Given the description of an element on the screen output the (x, y) to click on. 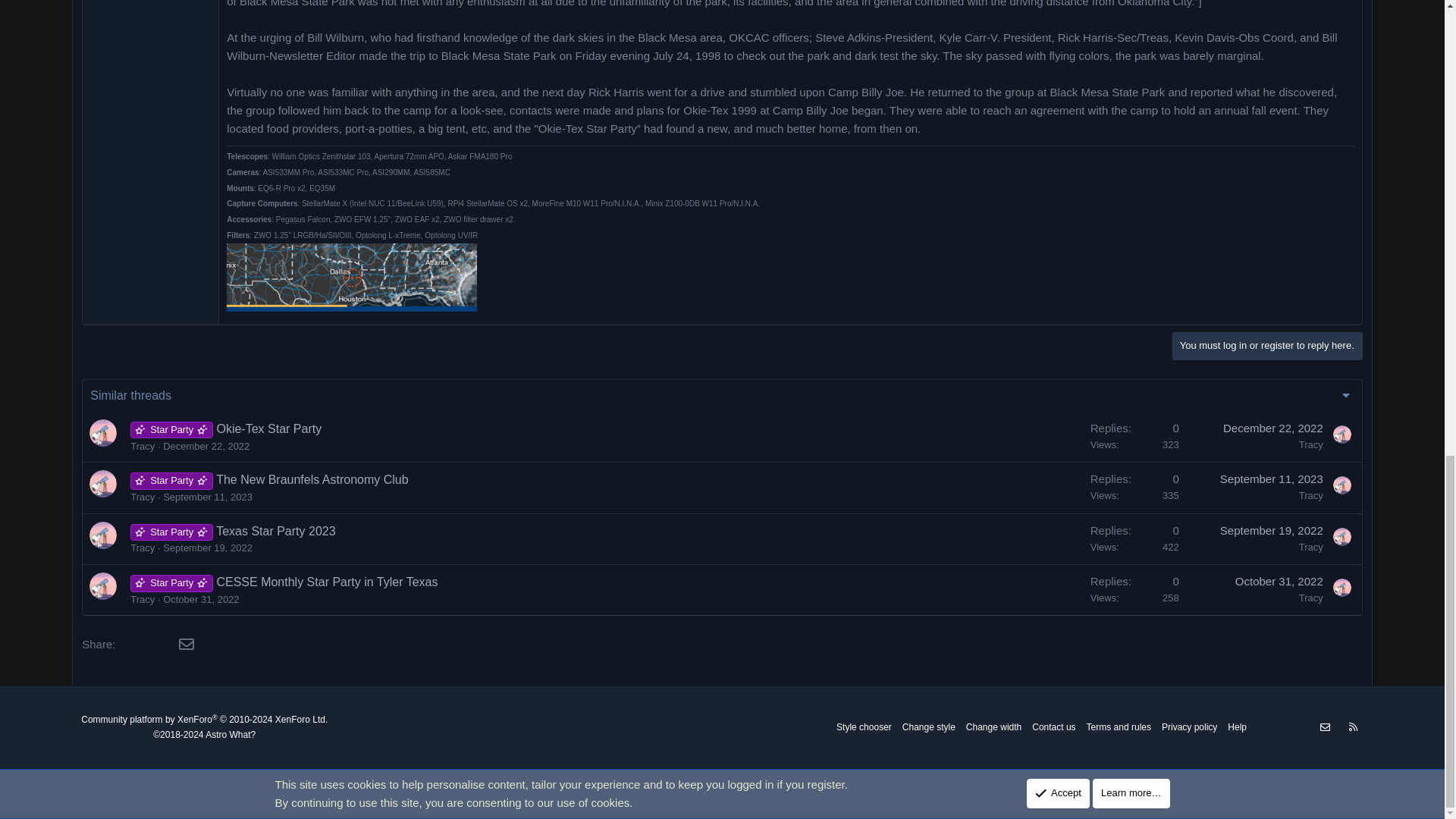
December 22, 2022 at 10:01 PM (205, 445)
sig.gif (352, 279)
First message reaction score: 1 (1134, 436)
